Given the description of an element on the screen output the (x, y) to click on. 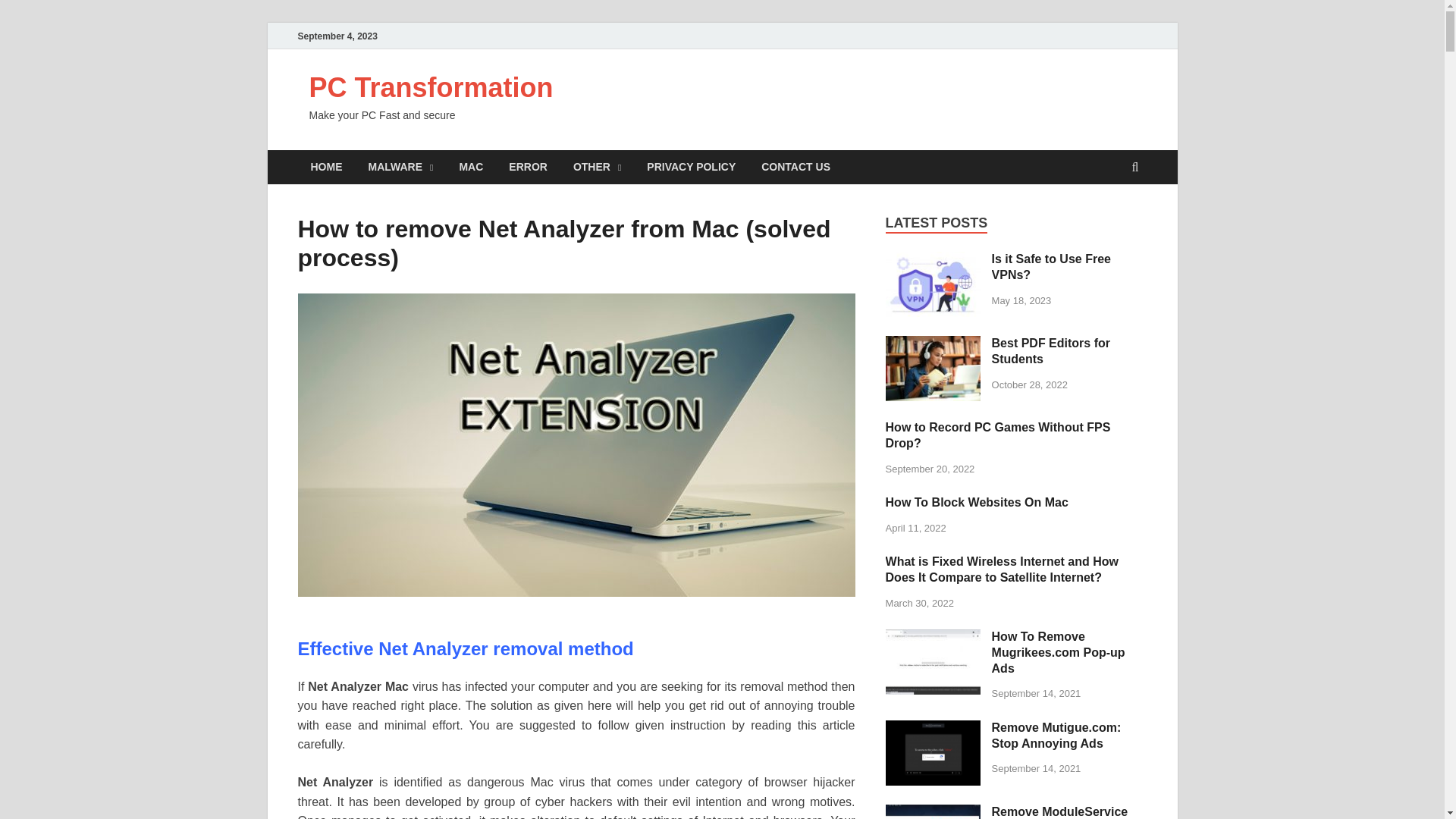
HOME (326, 166)
PC Transformation (430, 87)
MALWARE (400, 166)
How To Block Websites On Mac (976, 502)
Best PDF Editors for Students (1050, 350)
OTHER (596, 166)
Is it Safe to Use Free VPNs? (932, 259)
PRIVACY POLICY (690, 166)
Remove ModuleService ads From Mac (932, 812)
How to Record PC Games Without FPS Drop? (997, 434)
ERROR (528, 166)
Remove Mutigue.com: Stop Annoying Ads (932, 728)
How To Remove Mugrikees.com Pop-up Ads (932, 637)
CONTACT US (795, 166)
